Given the description of an element on the screen output the (x, y) to click on. 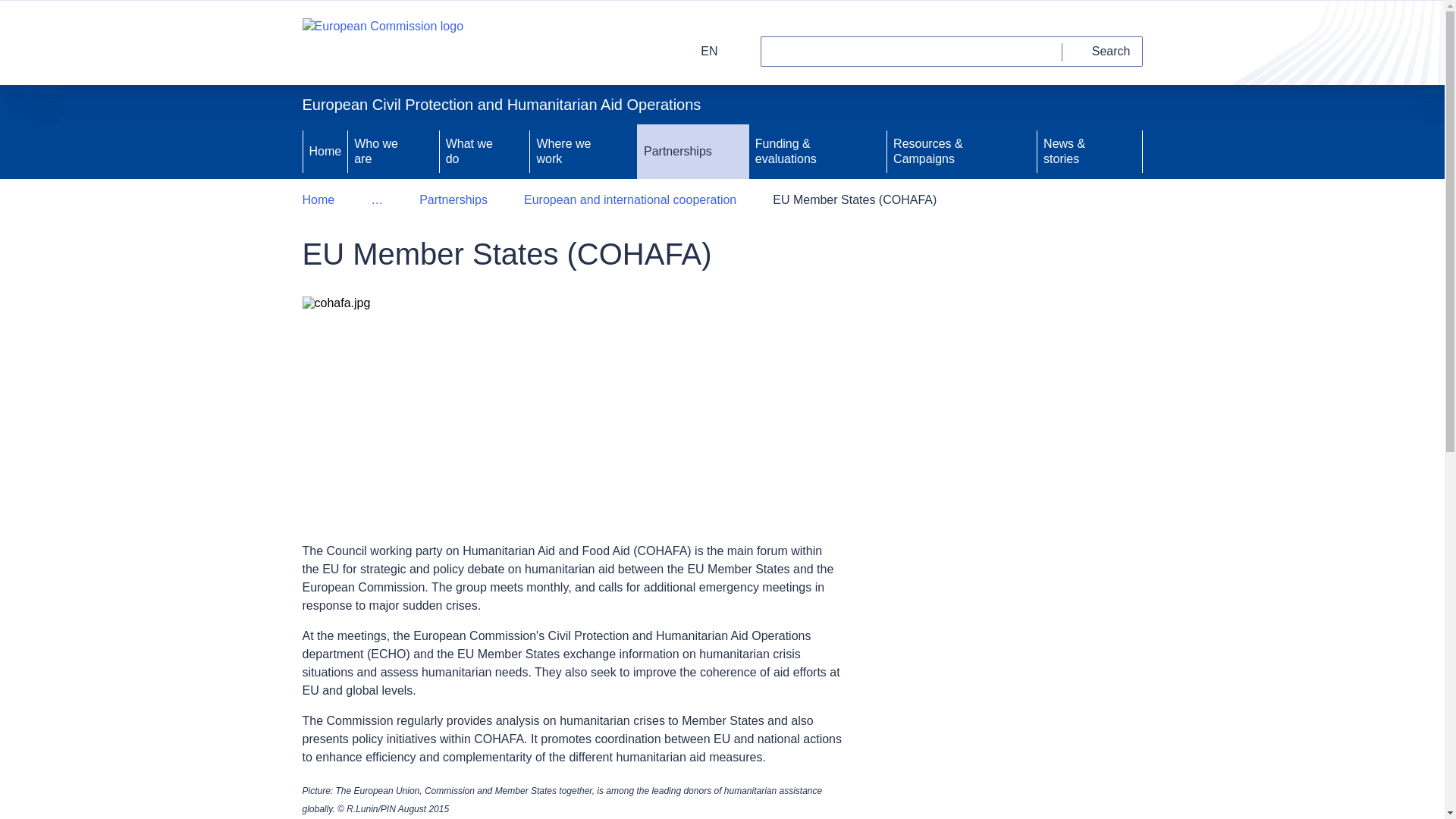
What we do (467, 151)
Where we work (566, 151)
Search (1102, 51)
Home (324, 151)
Partnerships (675, 151)
Who we are (376, 151)
European Commission (382, 42)
EN (699, 51)
